Given the description of an element on the screen output the (x, y) to click on. 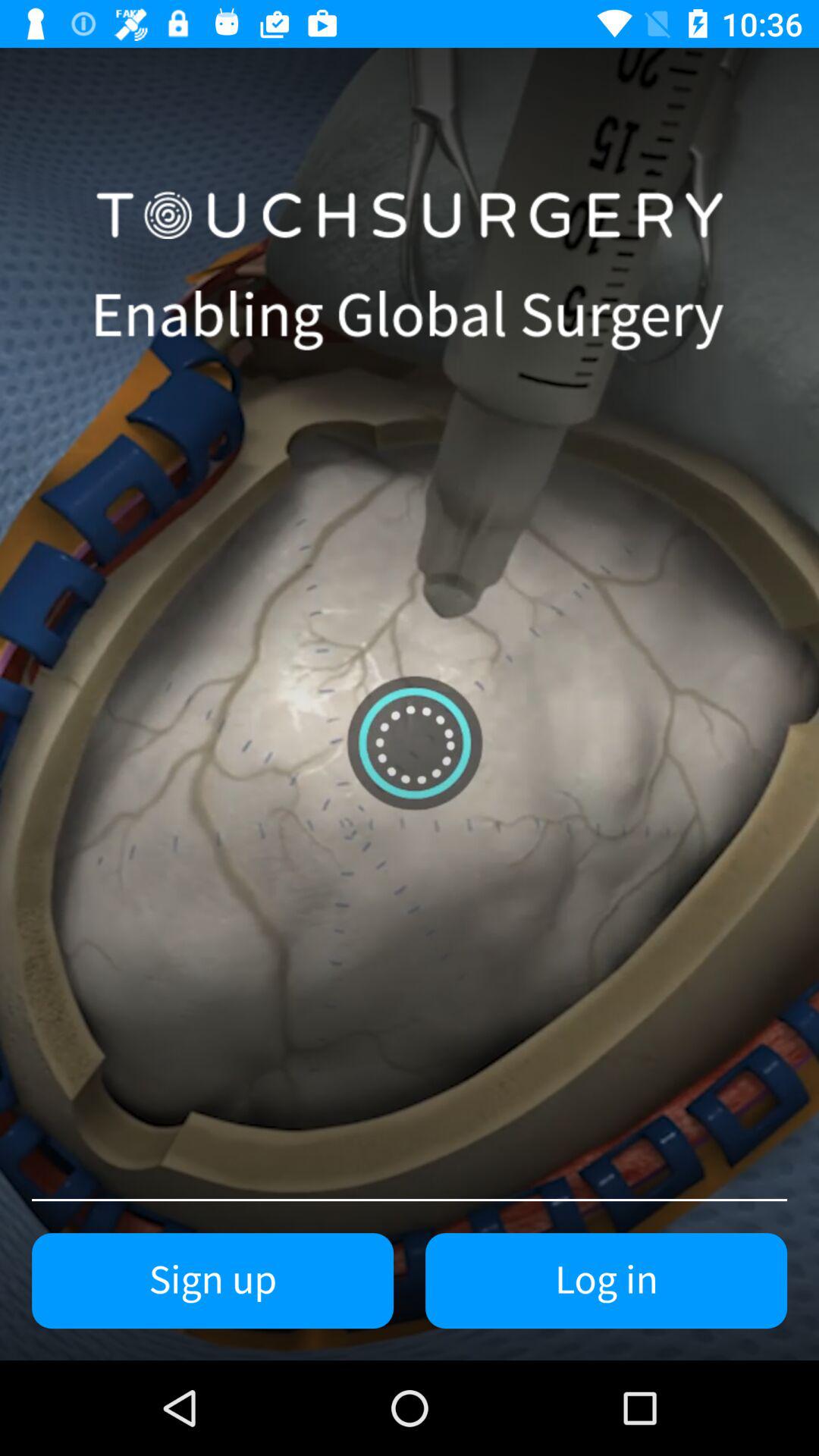
launch icon at the bottom right corner (606, 1280)
